Given the description of an element on the screen output the (x, y) to click on. 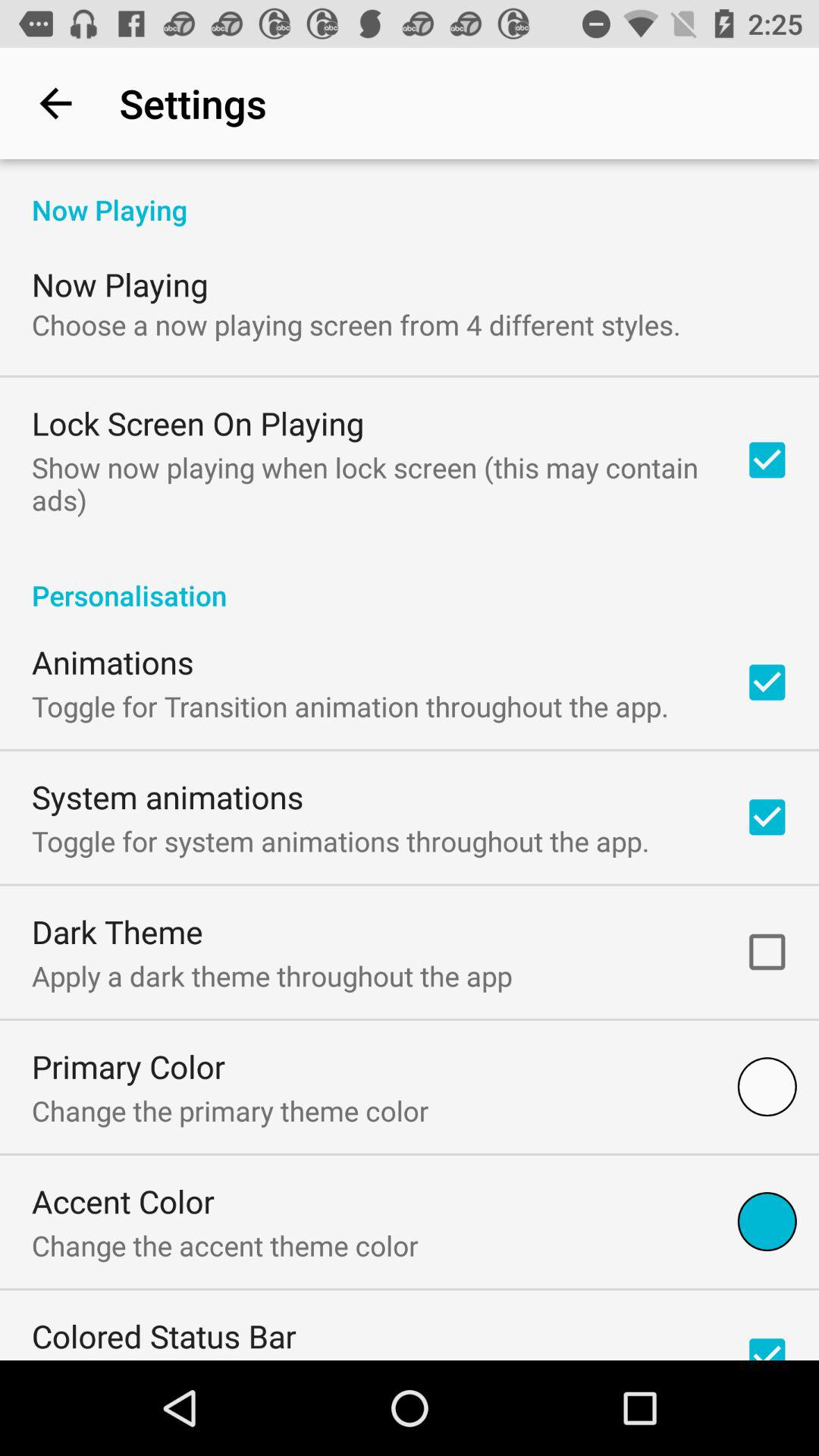
turn on the item above primary color item (271, 975)
